Given the description of an element on the screen output the (x, y) to click on. 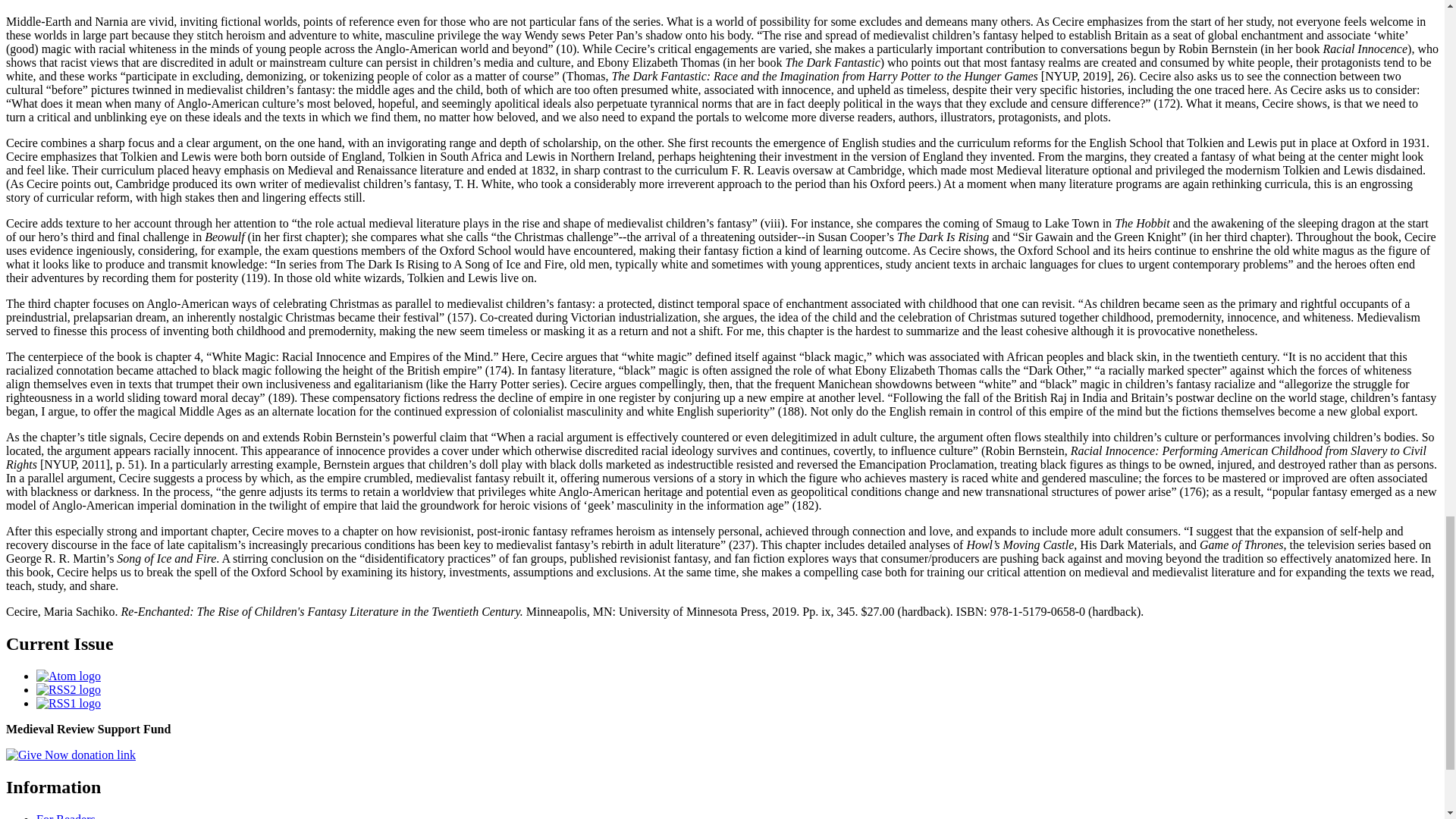
For Readers (66, 816)
